Given the description of an element on the screen output the (x, y) to click on. 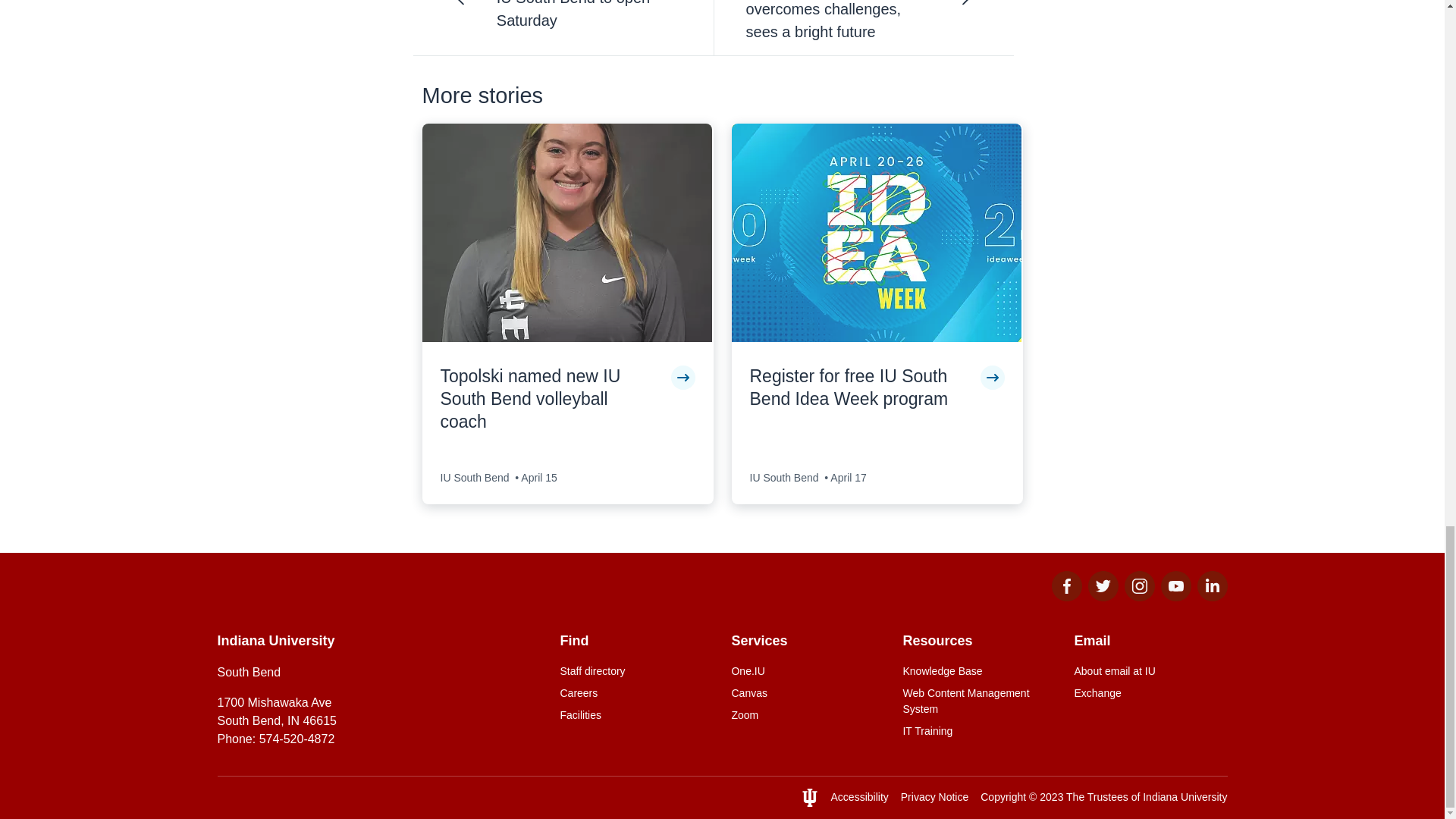
Web Content Management System (978, 701)
LinkedIn for IU South Bend (1211, 596)
Facilities (636, 715)
Canvas (806, 693)
Topolski named new IU South Bend volleyball coach (548, 399)
Facebook for IU South Bend (1066, 596)
Copyright (1002, 797)
Youtube for IU South Bend (1175, 596)
One.IU (806, 671)
Indiana University (1184, 797)
Register for free IU South Bend Idea Week program (858, 388)
Instagram for IU (1139, 596)
Zoom (806, 715)
Staff directory (636, 671)
